Given the description of an element on the screen output the (x, y) to click on. 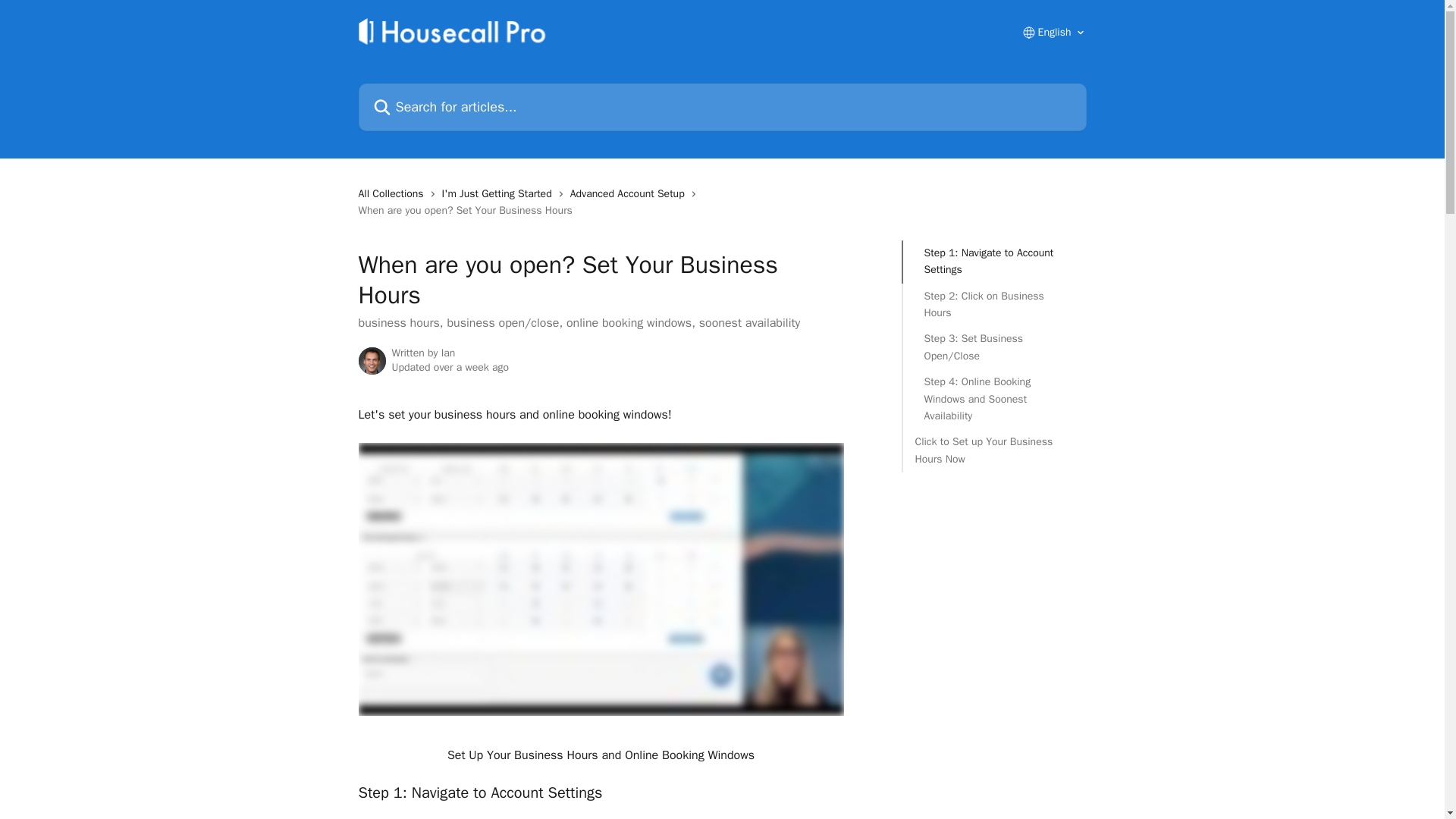
Click to Set up Your Business Hours Now (994, 450)
Advanced Account Setup (630, 193)
Step 4: Online Booking Windows and Soonest Availability (993, 399)
I'm Just Getting Started (499, 193)
Step 2: Click on Business Hours (993, 305)
All Collections (393, 193)
Step 1: Navigate to Account Settings (993, 261)
